Given the description of an element on the screen output the (x, y) to click on. 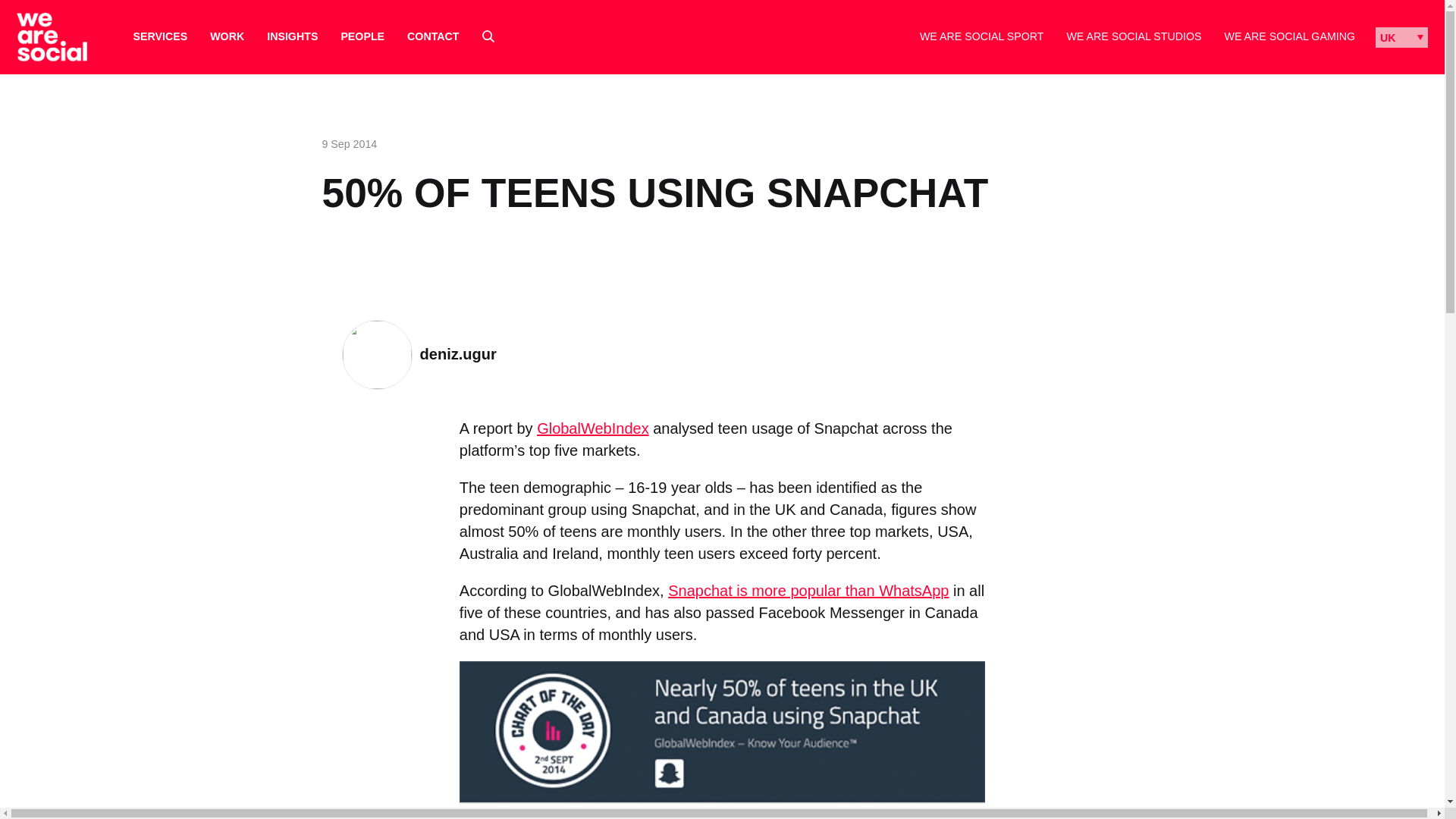
Snapchat is more popular than WhatsApp (808, 590)
Contact (432, 36)
Insights (291, 36)
INSIGHTS (291, 36)
SERVICES (160, 36)
We Are Social Studios (1133, 36)
We Are Social Sport (981, 36)
WE ARE SOCIAL SPORT (981, 36)
GlobalWebIndex (593, 428)
CONTACT (432, 36)
Work (226, 36)
PEOPLE (362, 36)
WE ARE SOCIAL STUDIOS (1133, 36)
WORK (226, 36)
Select to toggle search form (488, 36)
